Given the description of an element on the screen output the (x, y) to click on. 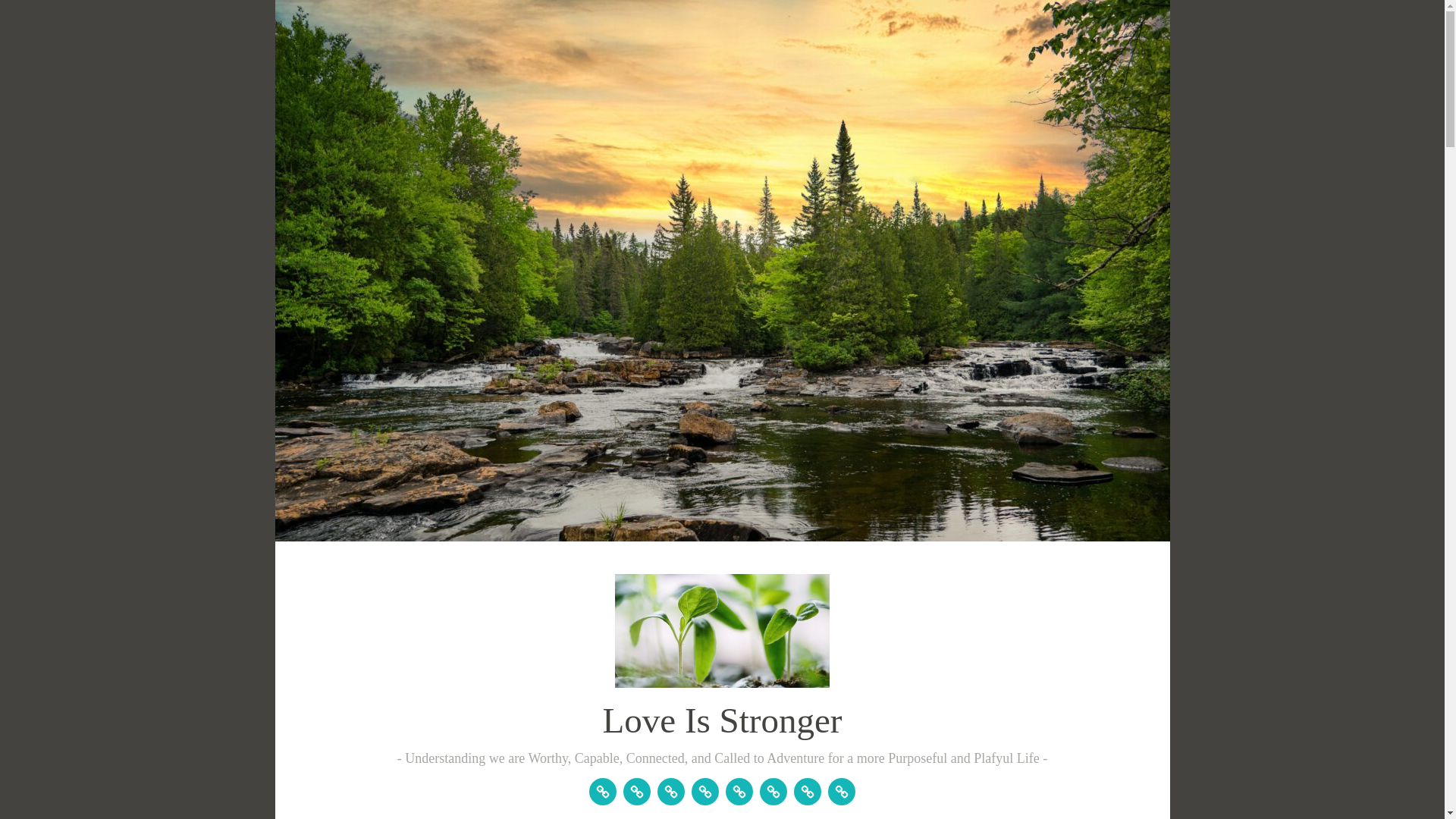
About Shelly (602, 791)
Copyright (841, 791)
Work With Me (705, 791)
Purpose (670, 791)
Books (739, 791)
Contact (636, 791)
Love Is Stronger (722, 720)
Art (772, 791)
Courses (807, 791)
